Given the description of an element on the screen output the (x, y) to click on. 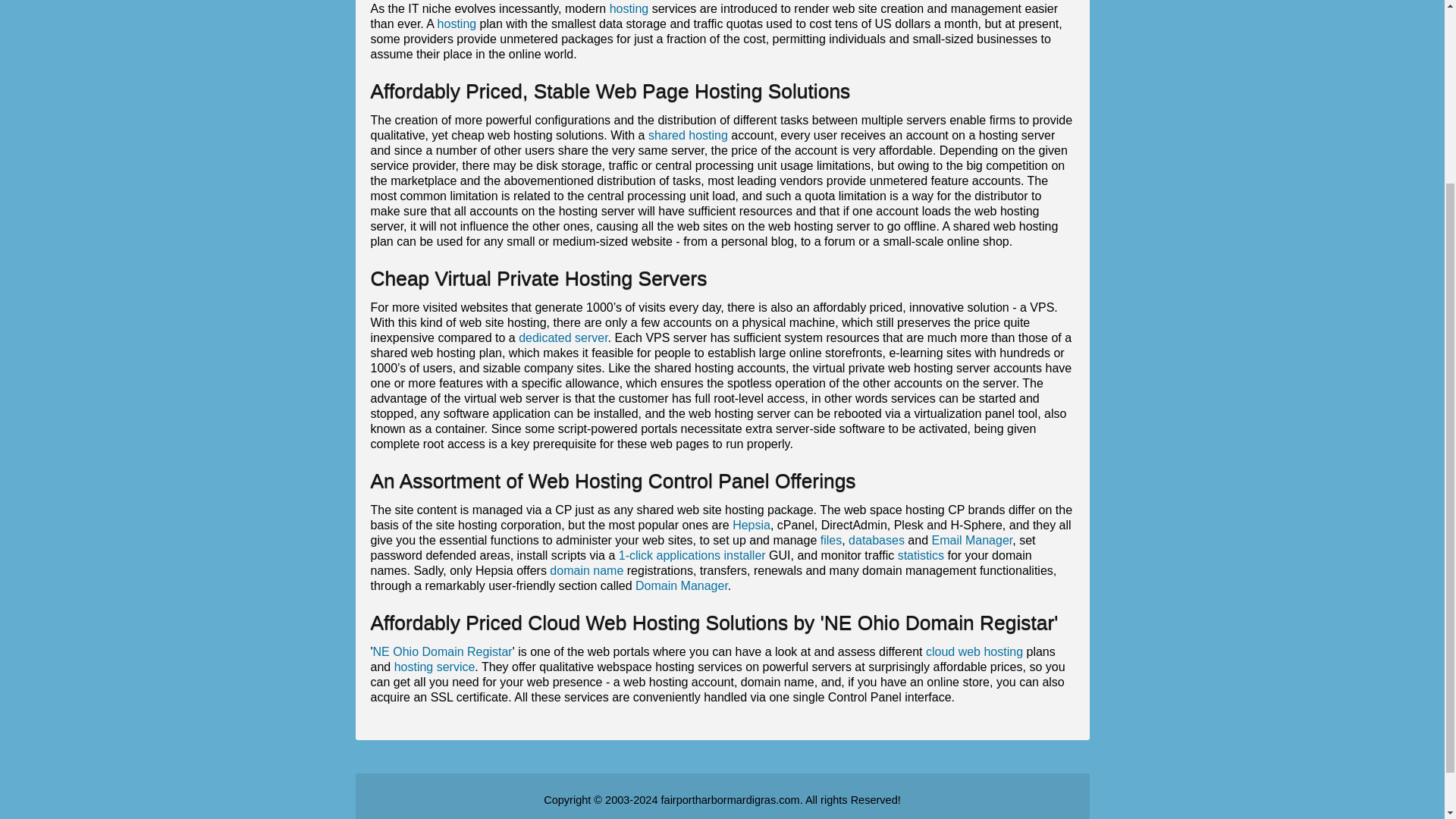
Domain Manager (681, 585)
1-click applications installer (691, 554)
Email Manager (972, 540)
hosting (629, 8)
fairportharbormardigras.com (730, 799)
cloud web hosting (974, 651)
dedicated server (562, 337)
NE Ohio Domain Registar (442, 651)
statistics (920, 554)
files (831, 540)
Hepsia (751, 524)
shared hosting (687, 134)
hosting service (435, 666)
hosting (457, 23)
databases (876, 540)
